Given the description of an element on the screen output the (x, y) to click on. 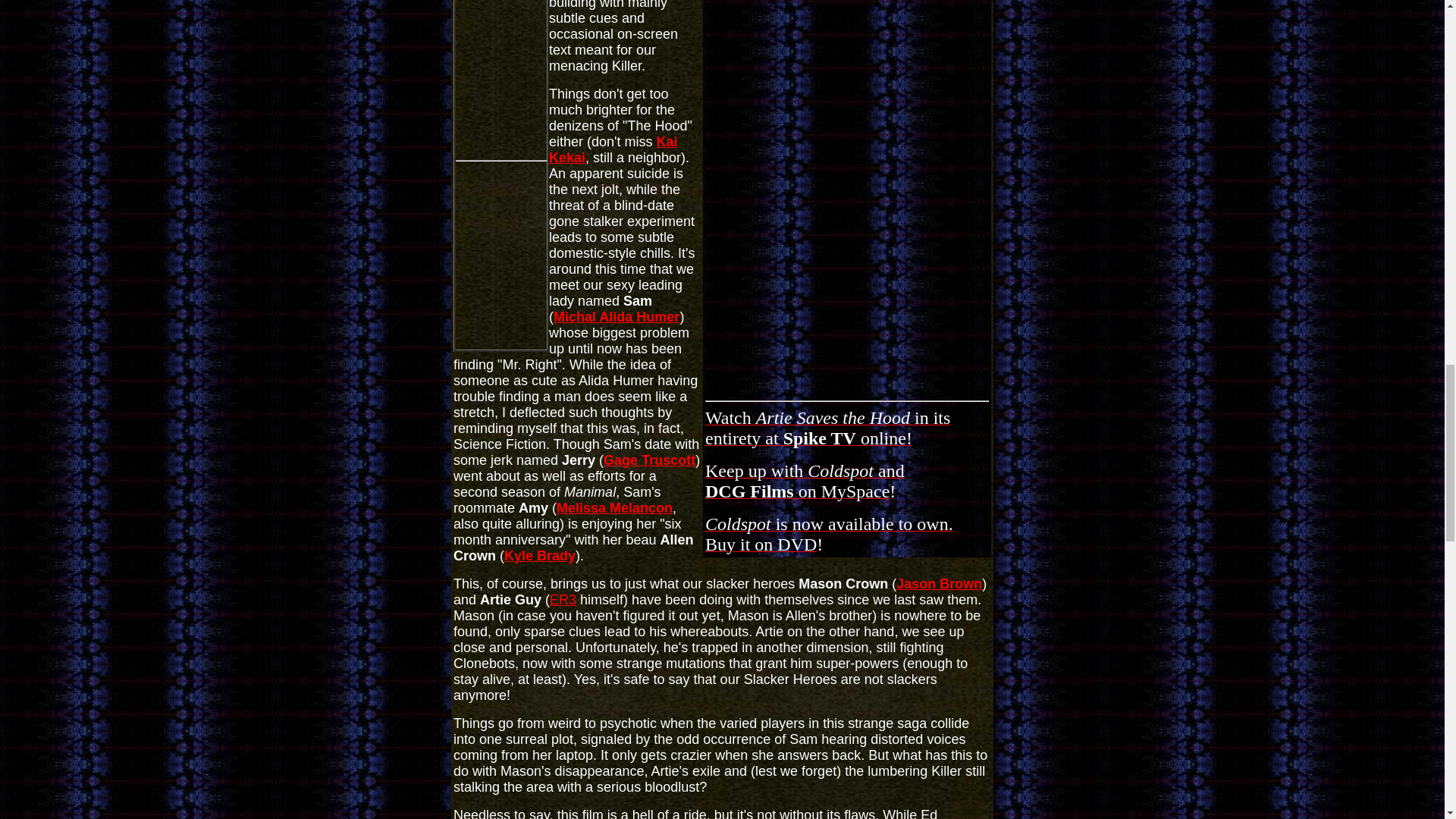
Melissa Melancon (614, 507)
ER3 (563, 599)
Michal Alida Humer (616, 316)
Kyle Brady (539, 555)
Jason Brown (828, 535)
Gage Truscott (938, 583)
Kai Kekai (804, 482)
